Given the description of an element on the screen output the (x, y) to click on. 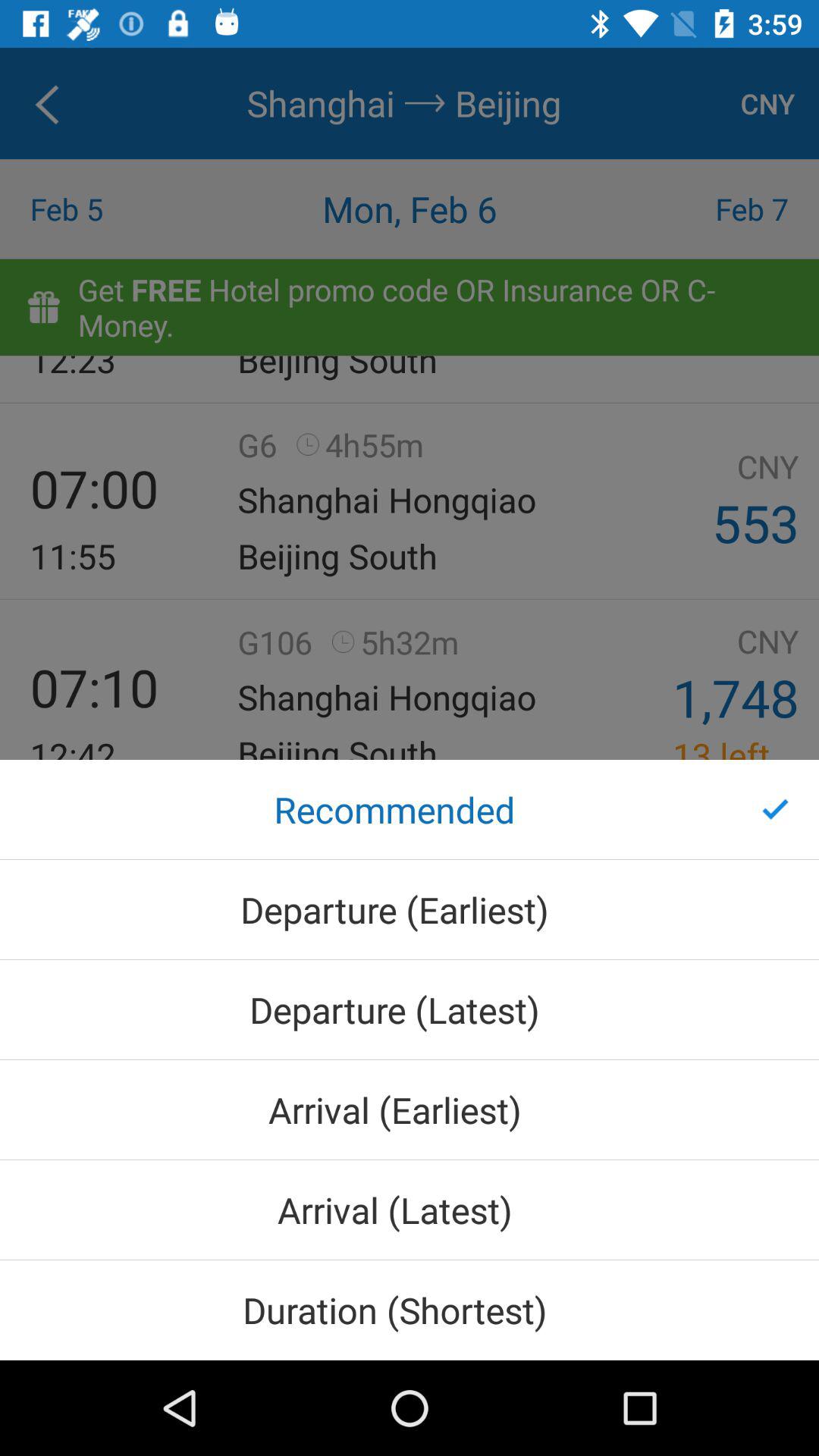
tap the item below departure (earliest) (409, 1009)
